Given the description of an element on the screen output the (x, y) to click on. 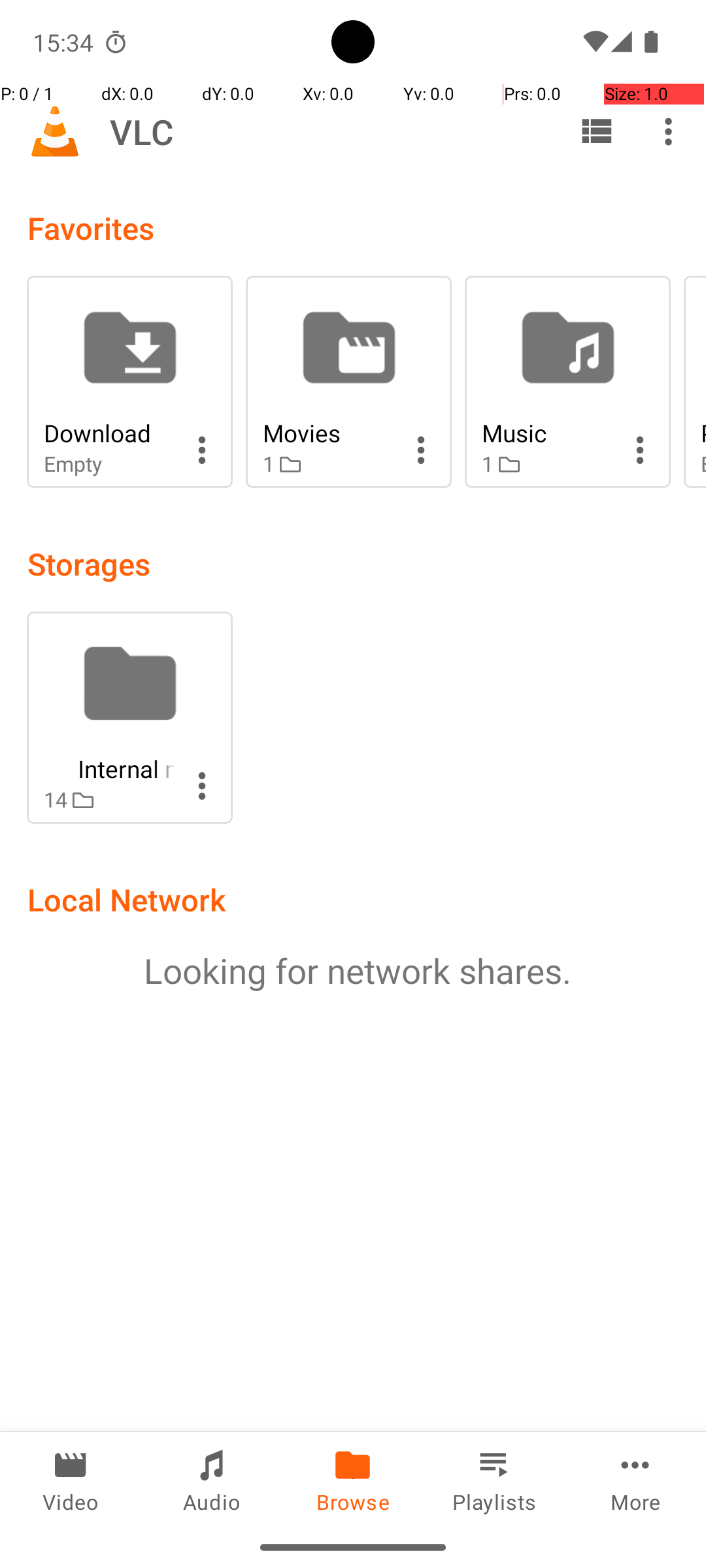
Looking for network shares Element type: android.widget.TextView (352, 970)
Favorite: Music, 1 subfolder Element type: androidx.cardview.widget.CardView (567, 381)
Favorite: Podcasts, Empty Element type: androidx.cardview.widget.CardView (694, 381)
Folder: Internal memory, 14 subfolders Element type: androidx.cardview.widget.CardView (129, 717)
14 §*§ Element type: android.widget.TextView (108, 799)
